Given the description of an element on the screen output the (x, y) to click on. 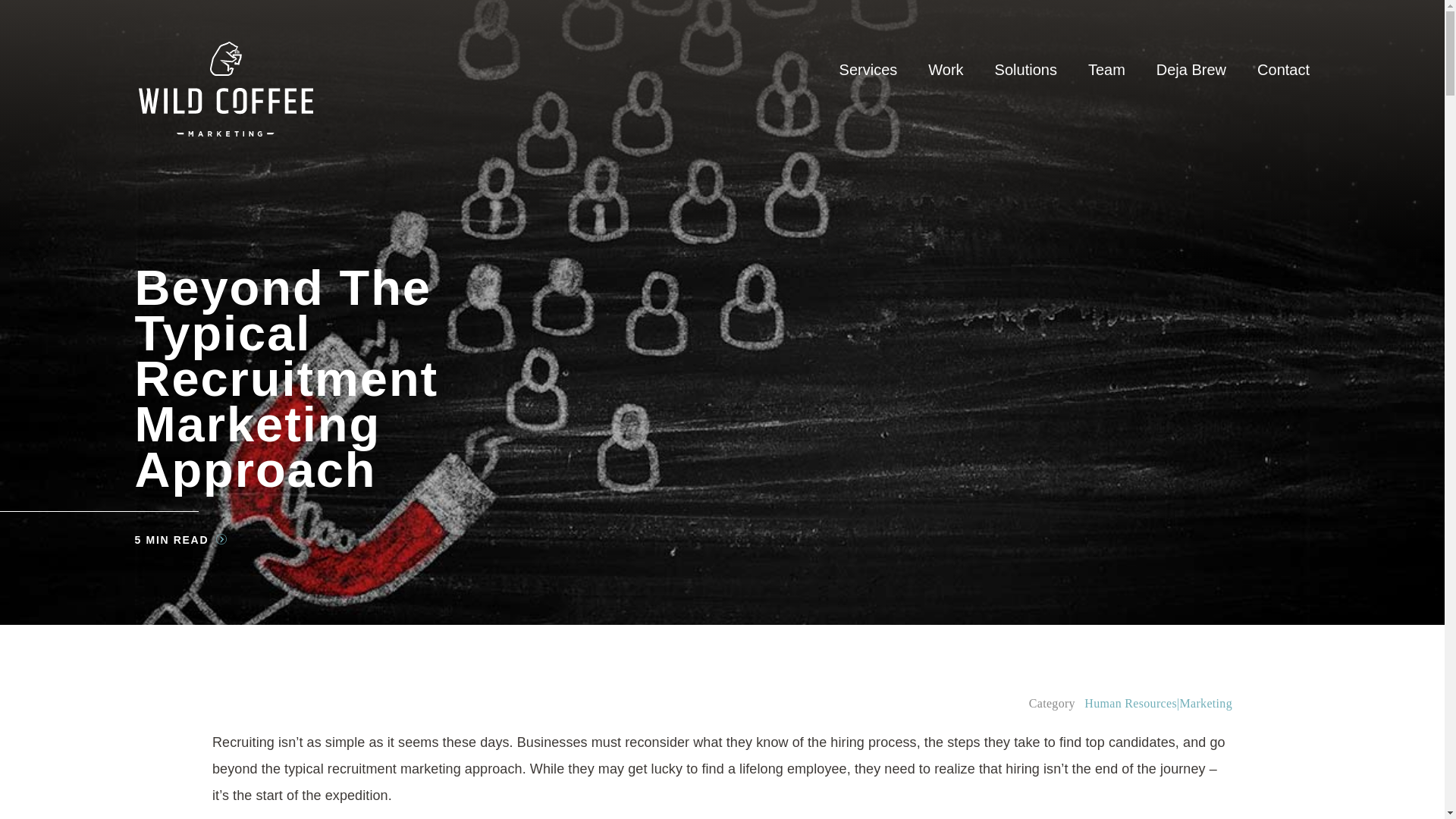
Contact (1282, 69)
Solutions (1025, 69)
Services (869, 69)
Team (1106, 69)
5 MIN READ (181, 540)
Deja Brew (1190, 69)
Work (945, 69)
